Given the description of an element on the screen output the (x, y) to click on. 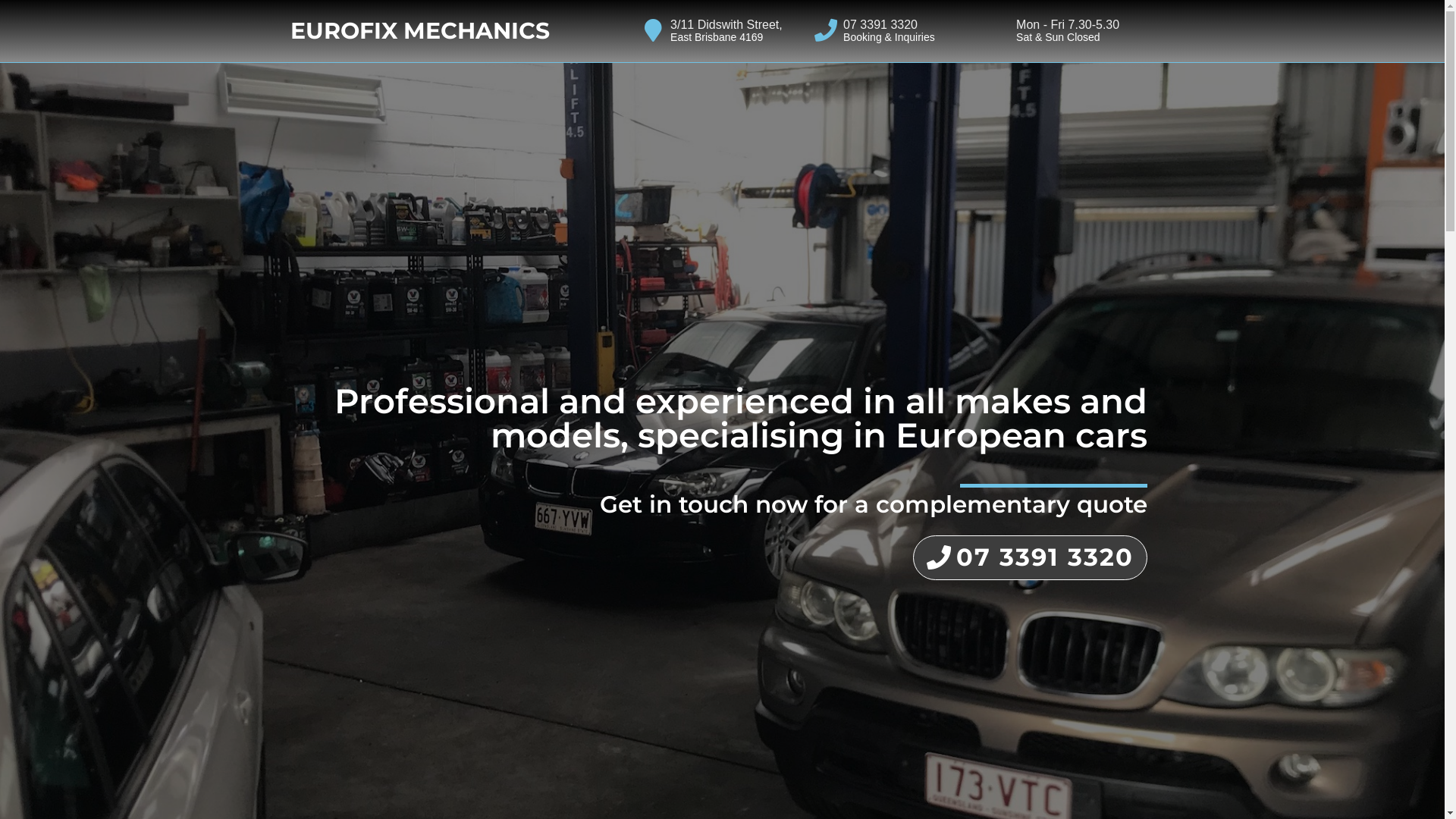
07 3391 3320 Element type: text (880, 24)
EUROFIX MECHANICS Element type: text (419, 30)
07 3391 3320 Element type: text (1030, 557)
